Given the description of an element on the screen output the (x, y) to click on. 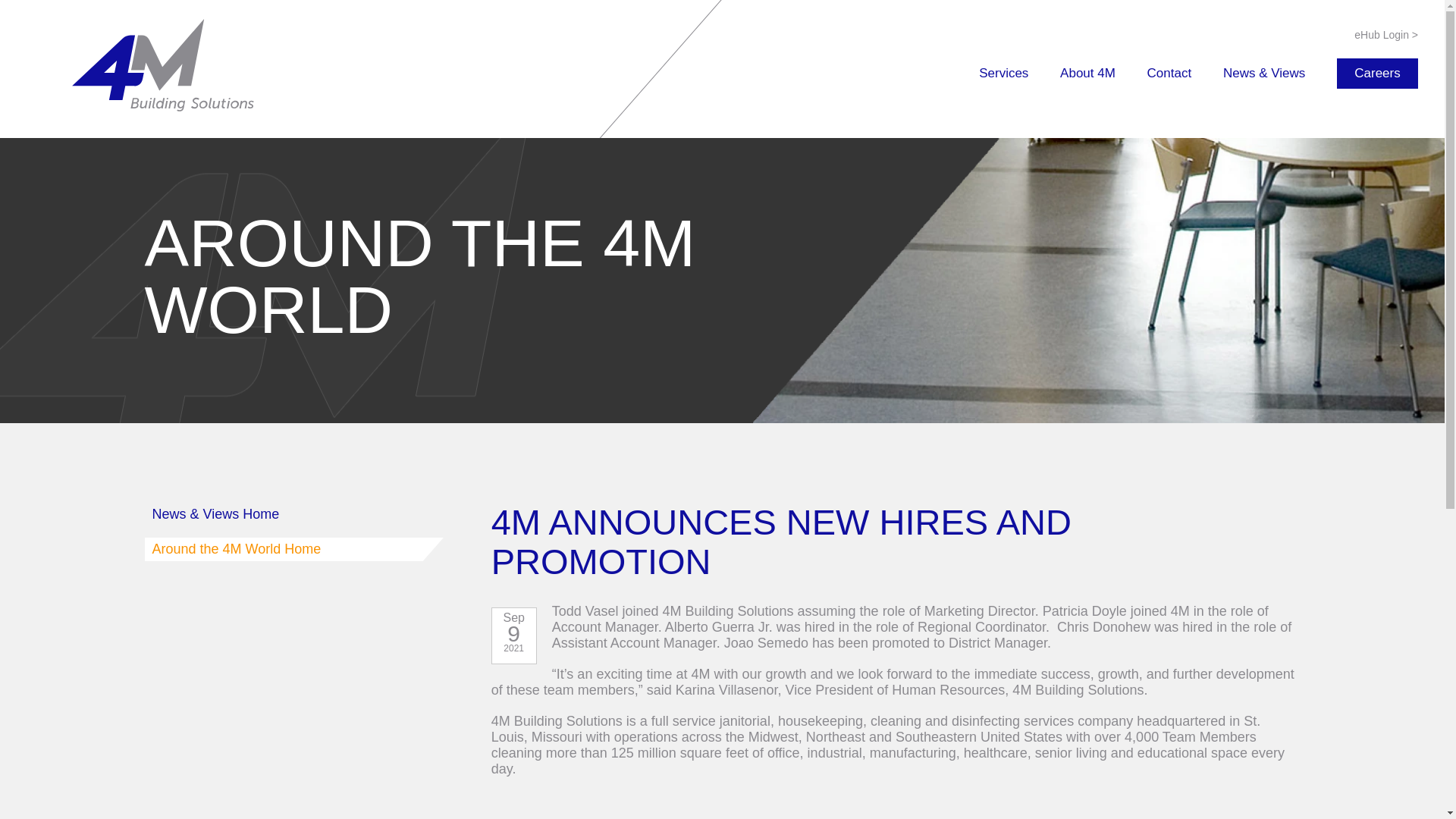
Services (1002, 73)
